Given the description of an element on the screen output the (x, y) to click on. 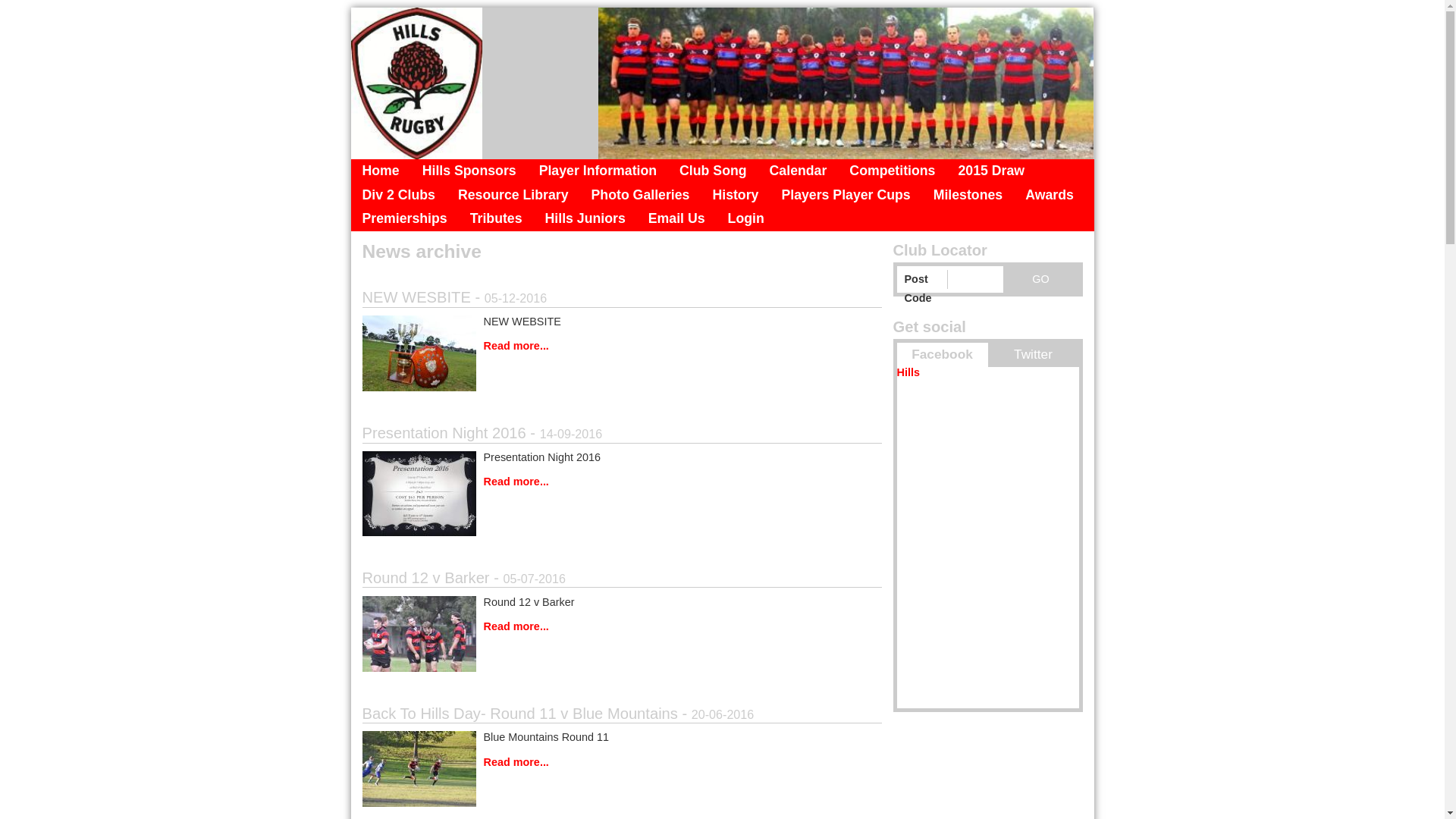
Player Information Element type: text (597, 171)
Photo Galleries Element type: text (640, 195)
Presentation Night 2016 - 14-09-2016 Element type: text (621, 434)
Email Us Element type: text (676, 219)
2015 Draw Element type: text (990, 171)
Club Song Element type: text (713, 171)
Milestones Element type: text (968, 195)
Competitions Element type: text (891, 171)
Back To Hills Day- Round 11 v Blue Mountains - 20-06-2016 Element type: text (621, 715)
NEW WESBITE - 05-12-2016 Element type: text (621, 298)
Login Element type: text (745, 219)
Hills Sponsors Element type: text (469, 171)
Premierships Element type: text (404, 219)
Calendar Element type: text (798, 171)
Players Player Cups Element type: text (845, 195)
Awards Element type: text (1049, 195)
Read more... Element type: text (621, 626)
Read more... Element type: text (621, 346)
Go Element type: text (1040, 279)
Round 12 v Barker - 05-07-2016 Element type: text (621, 579)
Tributes Element type: text (495, 219)
Hills Juniors Element type: text (585, 219)
Facebook Element type: text (941, 354)
Twitter Element type: text (1032, 354)
Hills Element type: text (907, 372)
Home Element type: text (380, 171)
Read more... Element type: text (621, 481)
Div 2 Clubs Element type: text (397, 195)
Resource Library Element type: text (513, 195)
History Element type: text (734, 195)
Read more... Element type: text (621, 762)
